Given the description of an element on the screen output the (x, y) to click on. 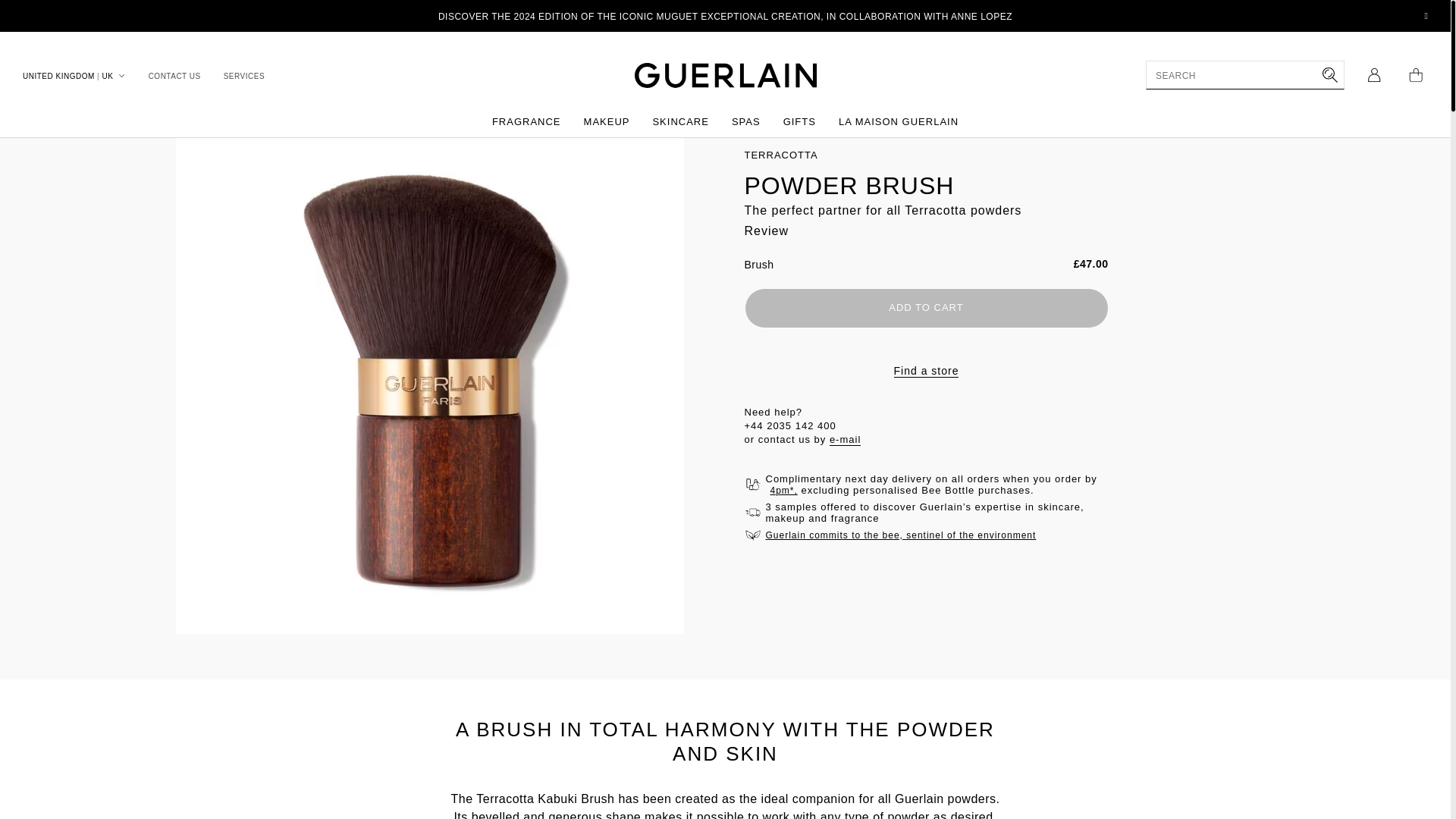
La Maison Guerlain (898, 122)
Makeup (606, 122)
My Account (1374, 74)
Skincare (679, 122)
Your shopping bag (1415, 74)
Fragrance (526, 122)
SPAS (746, 122)
GIFTS (799, 122)
